Given the description of an element on the screen output the (x, y) to click on. 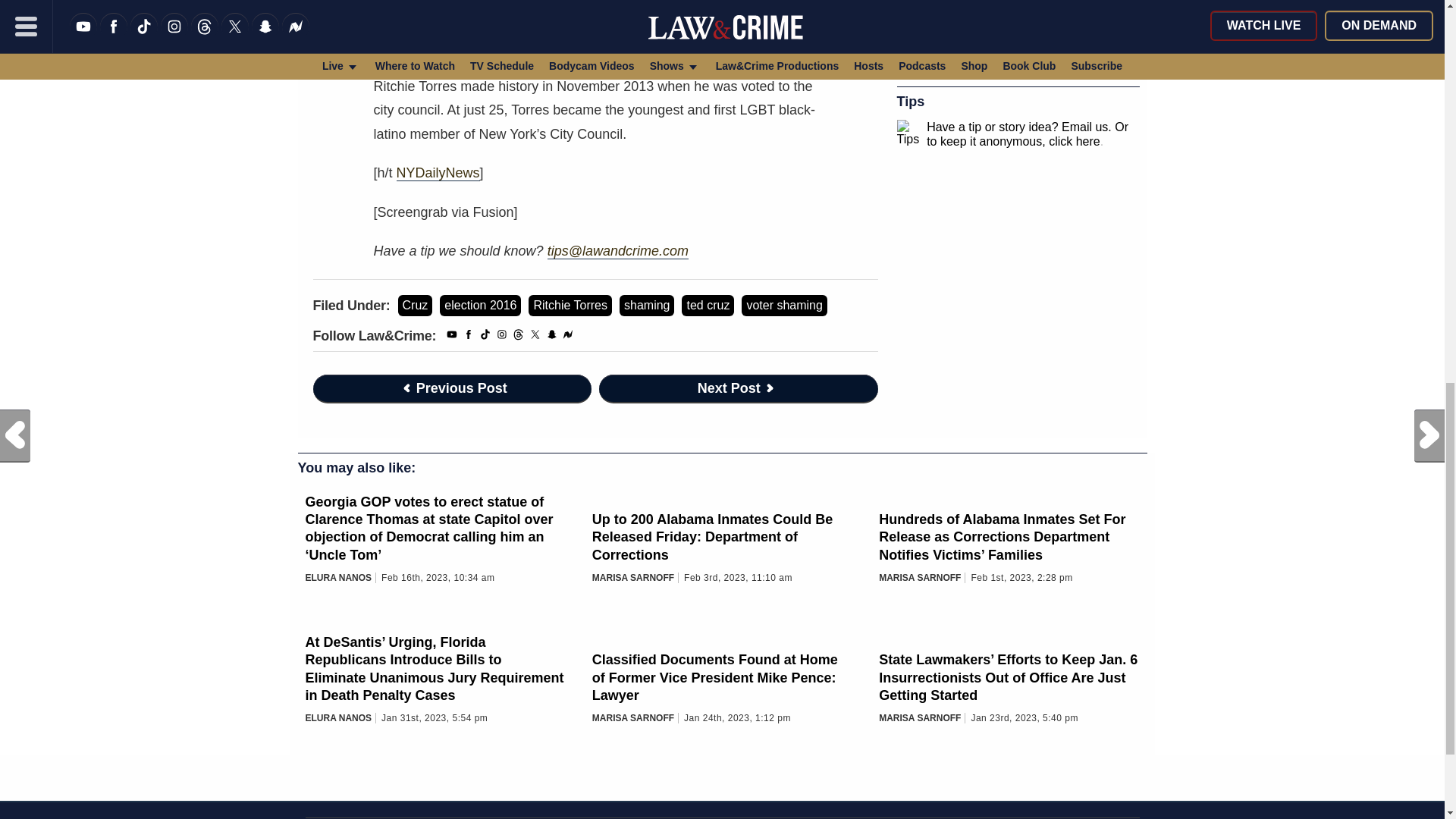
YouTube (451, 336)
